Given the description of an element on the screen output the (x, y) to click on. 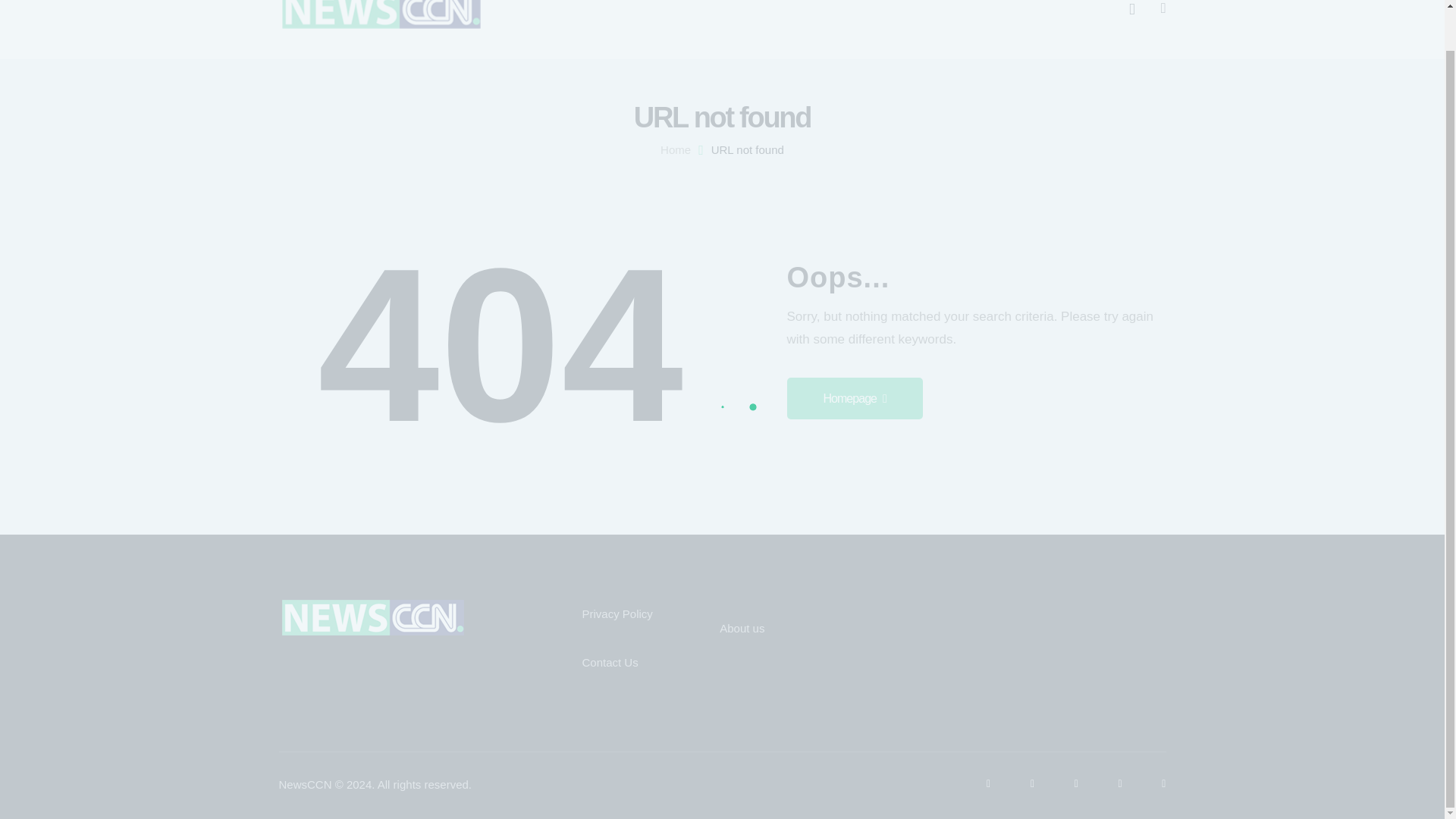
Home (675, 150)
